Given the description of an element on the screen output the (x, y) to click on. 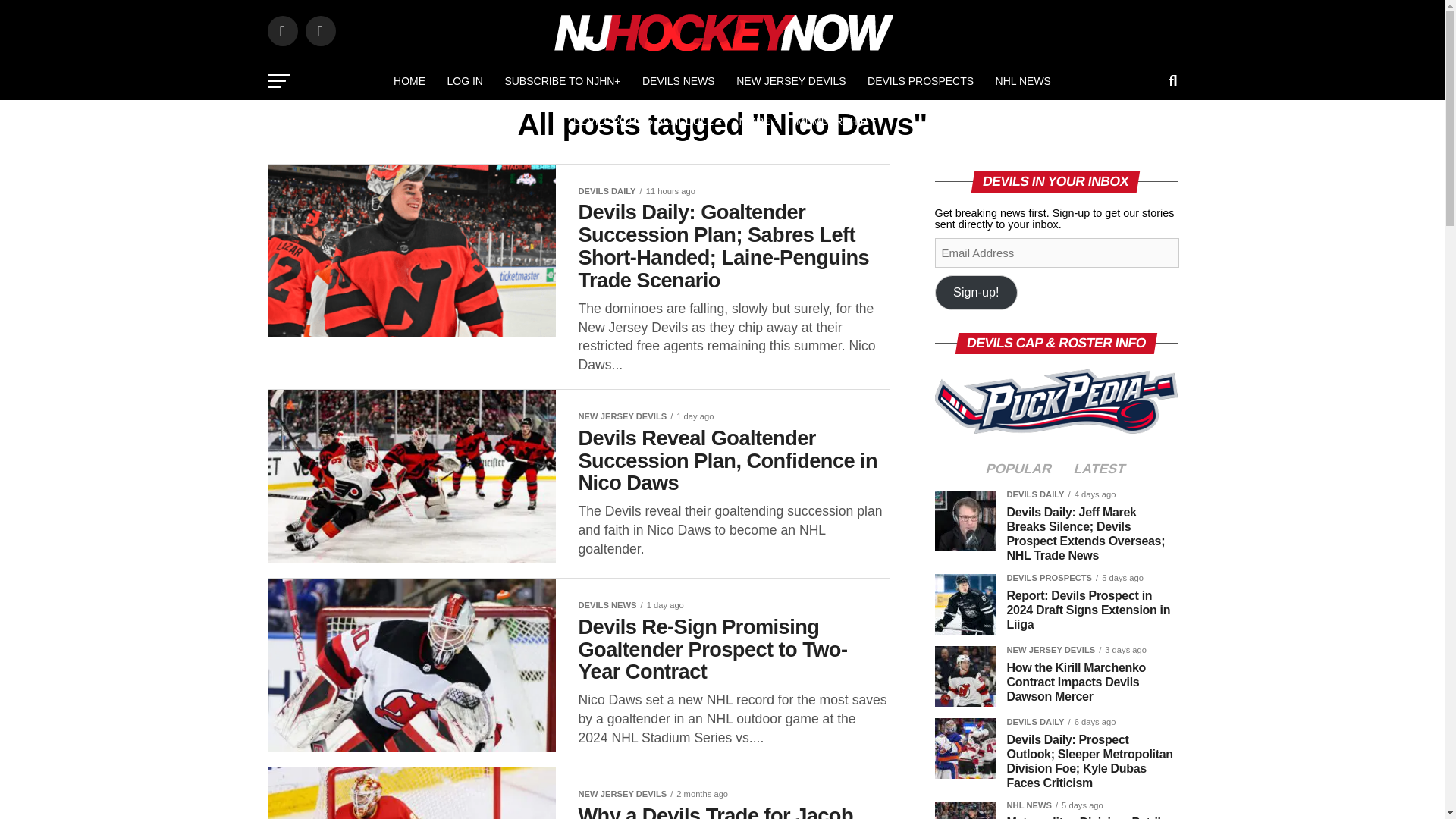
LOG IN (465, 80)
DEVILS NEWS (678, 80)
HOME (408, 80)
